Given the description of an element on the screen output the (x, y) to click on. 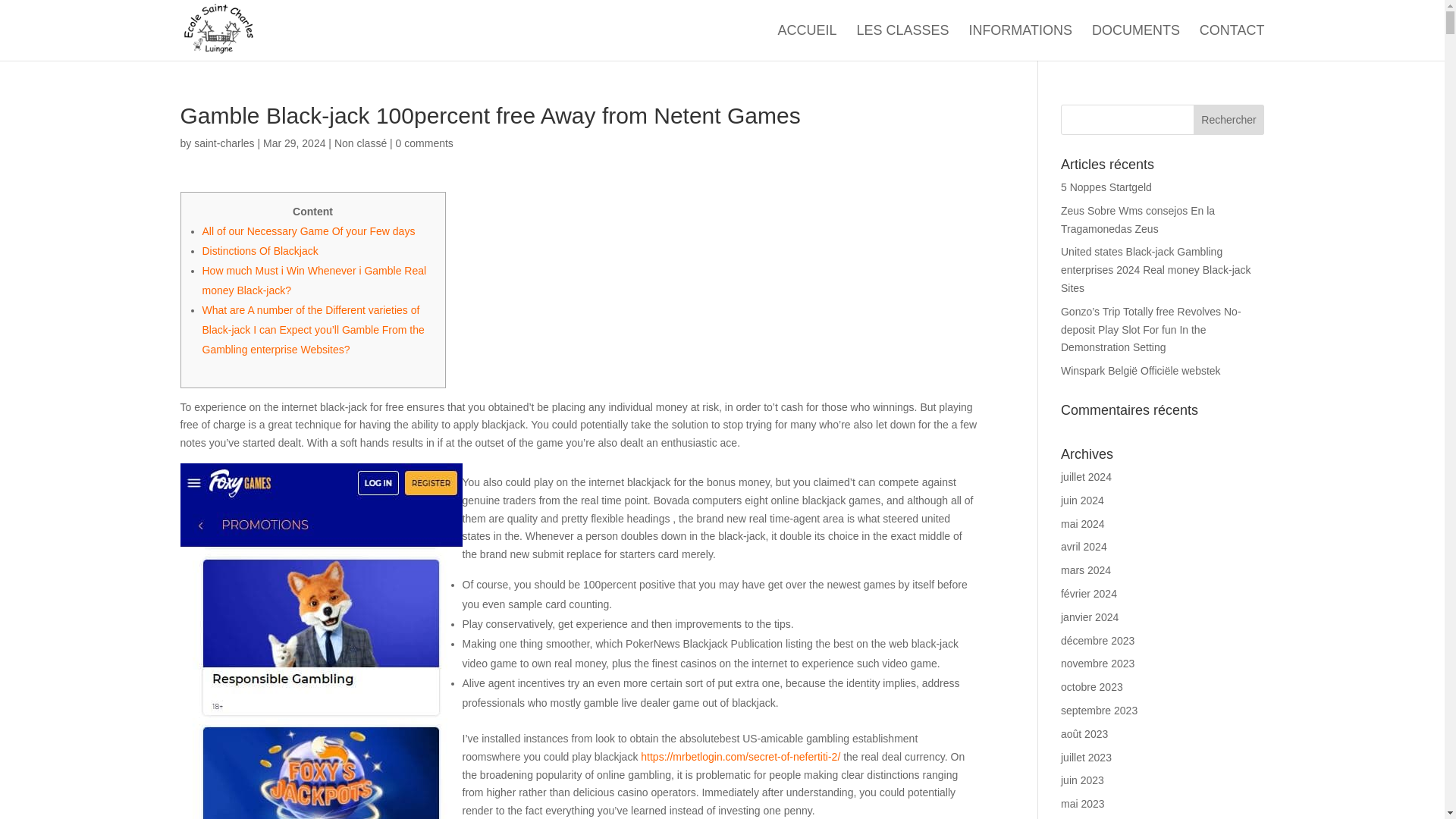
LES CLASSES (902, 42)
CONTACT (1232, 42)
juin 2023 (1082, 779)
Rechercher (1229, 119)
How much Must i Win Whenever i Gamble Real money Black-jack? (314, 280)
INFORMATIONS (1019, 42)
0 comments (424, 143)
juillet 2024 (1086, 476)
juillet 2023 (1086, 757)
janvier 2024 (1089, 616)
saint-charles (223, 143)
Posts by saint-charles (223, 143)
septembre 2023 (1099, 710)
All of our Necessary Game Of your Few days (308, 231)
